Given the description of an element on the screen output the (x, y) to click on. 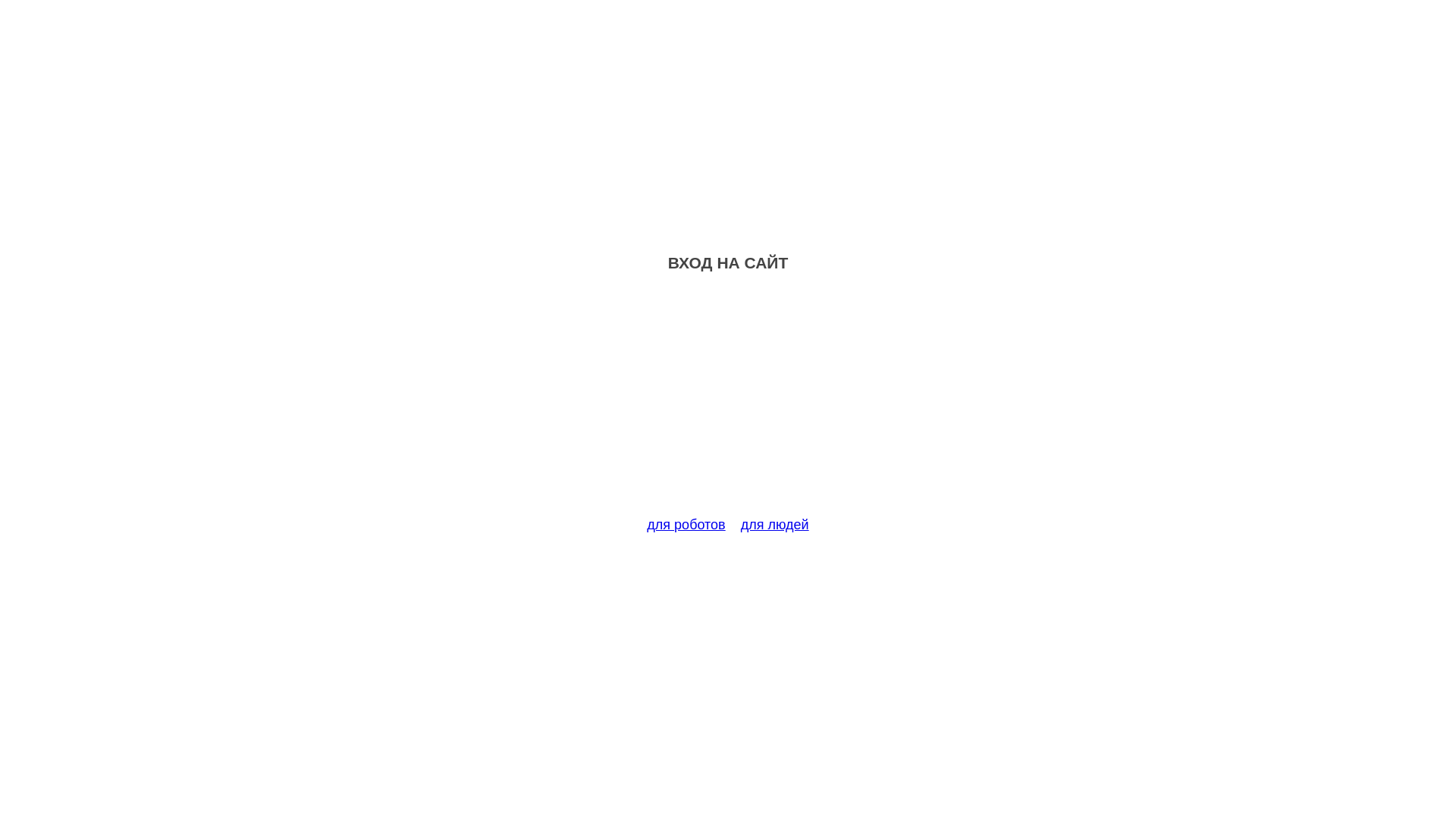
Advertisement Element type: hover (727, 403)
